Given the description of an element on the screen output the (x, y) to click on. 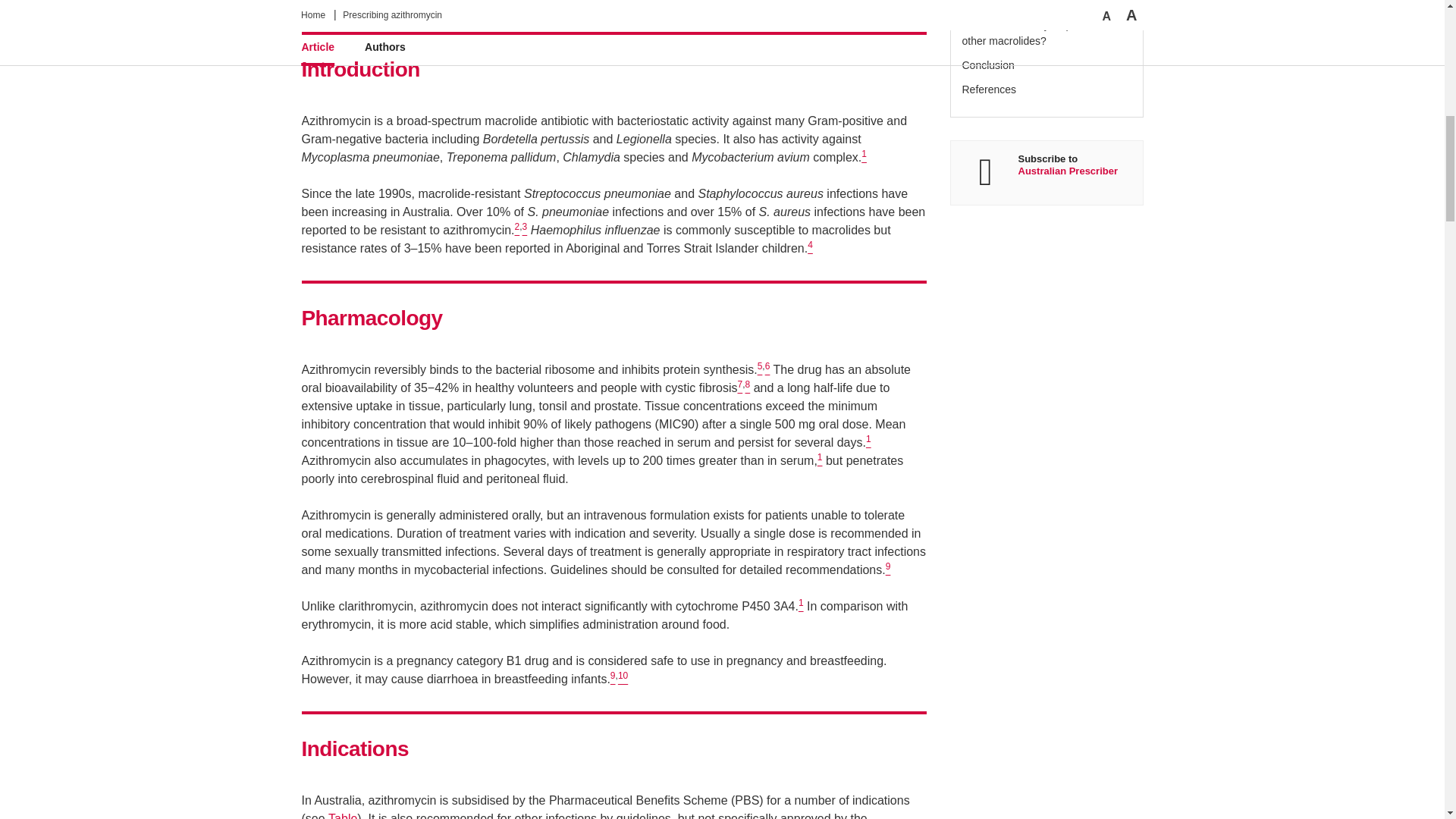
8 (748, 387)
6 (767, 369)
10 (622, 678)
9 (888, 569)
3 (524, 229)
2 (517, 229)
5 (759, 369)
1 (868, 441)
1 (800, 605)
7 (739, 387)
1 (819, 460)
9 (612, 678)
1 (863, 156)
4 (810, 247)
